Given the description of an element on the screen output the (x, y) to click on. 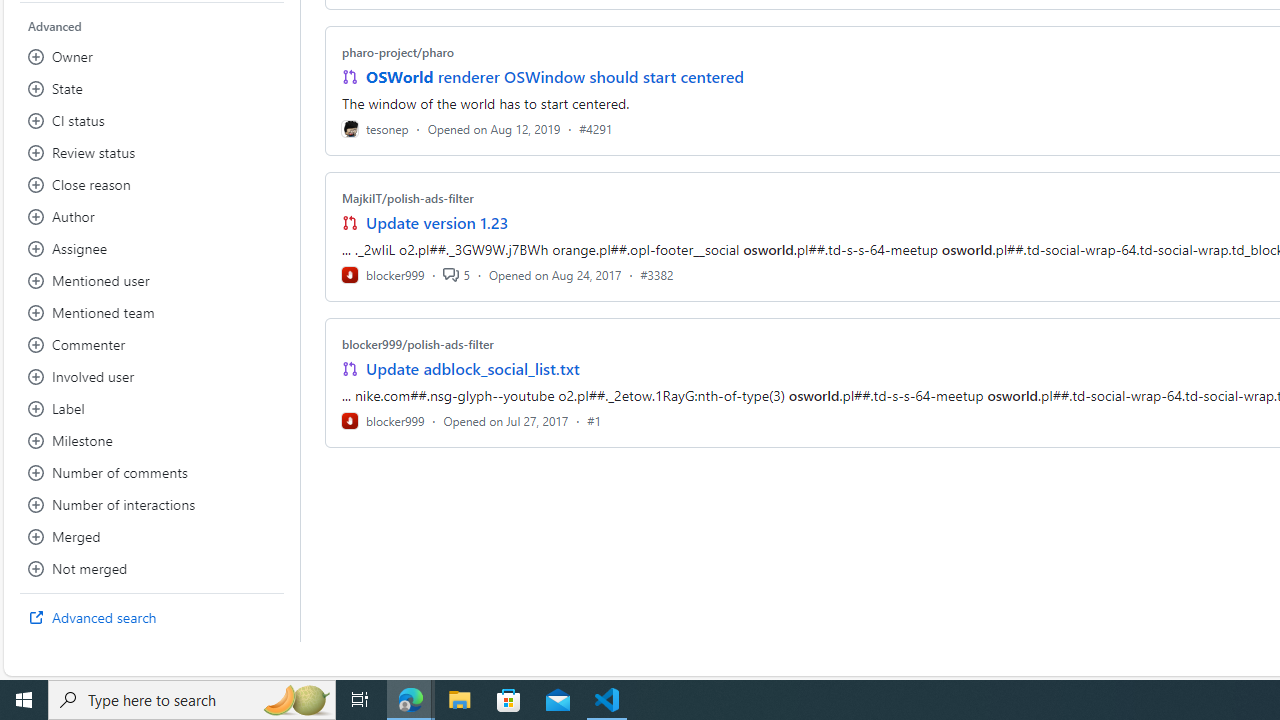
Update version 1.23 (437, 222)
#4291 (595, 128)
#4291 (595, 128)
Advanced search (152, 617)
